Given the description of an element on the screen output the (x, y) to click on. 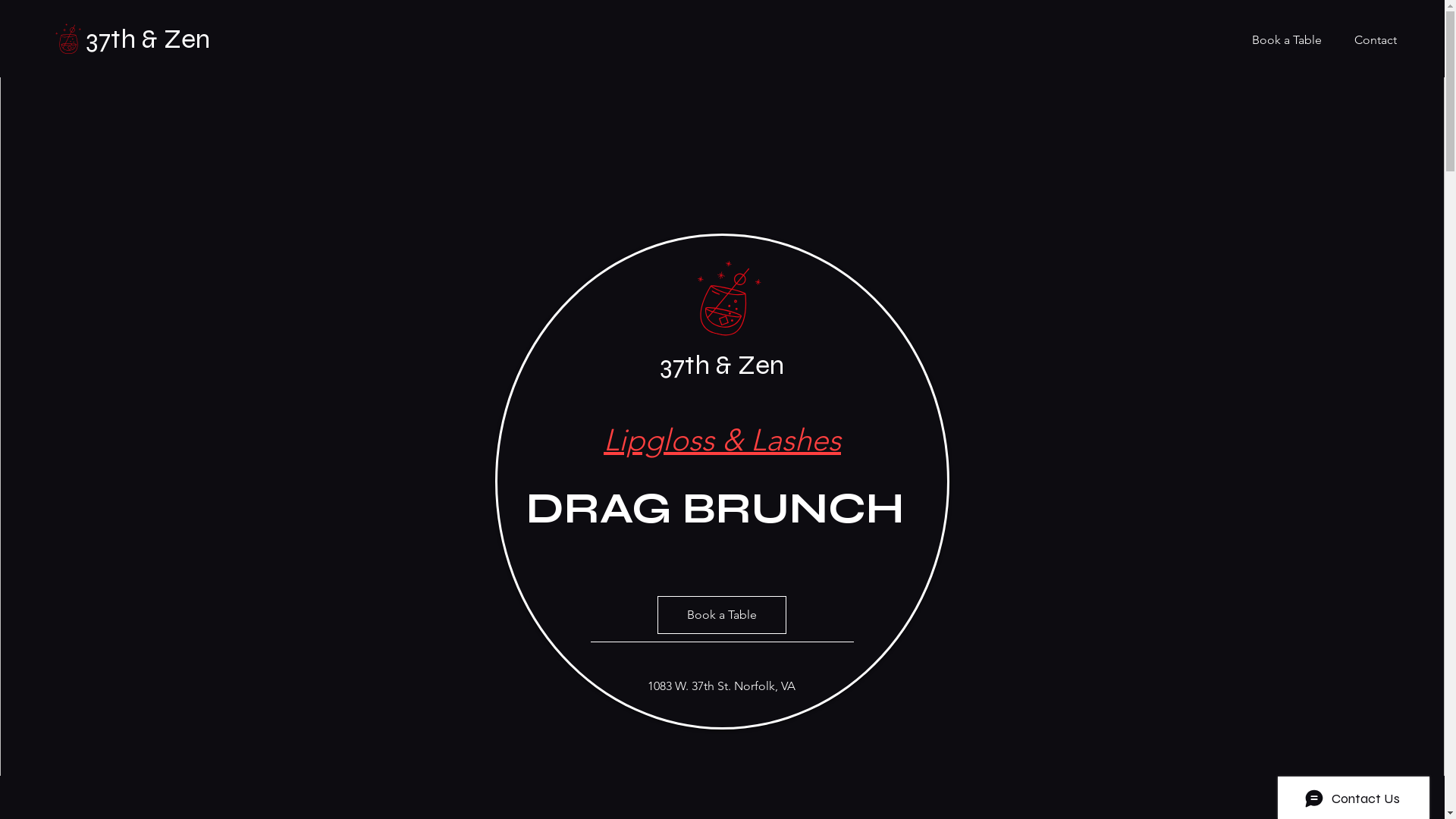
Book a Table Element type: text (720, 614)
Contact Element type: text (1370, 39)
Book a Table Element type: text (1281, 39)
37th & Zen Element type: text (147, 38)
